Given the description of an element on the screen output the (x, y) to click on. 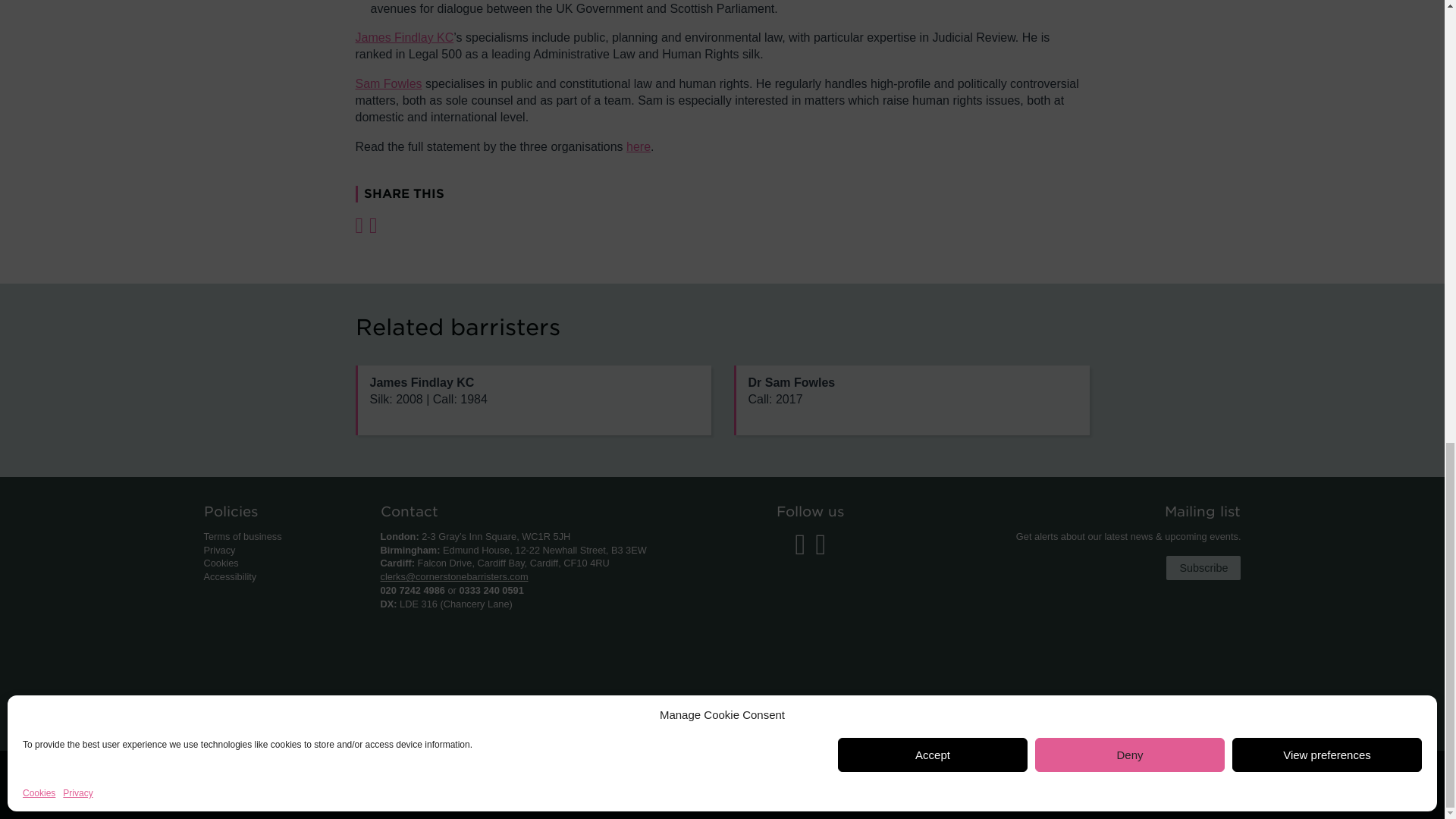
James Findlay KC (532, 399)
Dr Sam Fowles (911, 399)
